Given the description of an element on the screen output the (x, y) to click on. 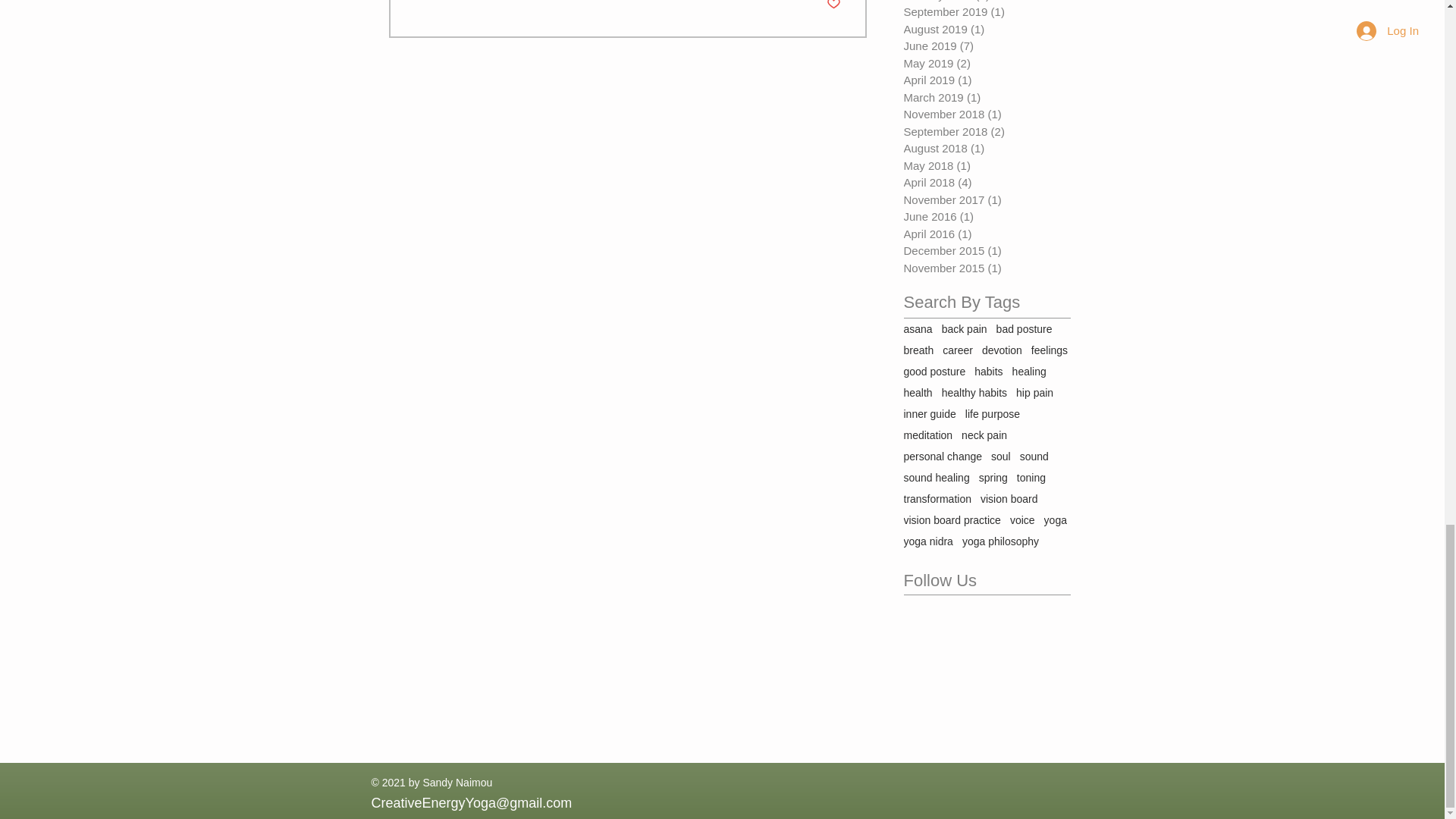
Post not marked as liked (834, 6)
